Given the description of an element on the screen output the (x, y) to click on. 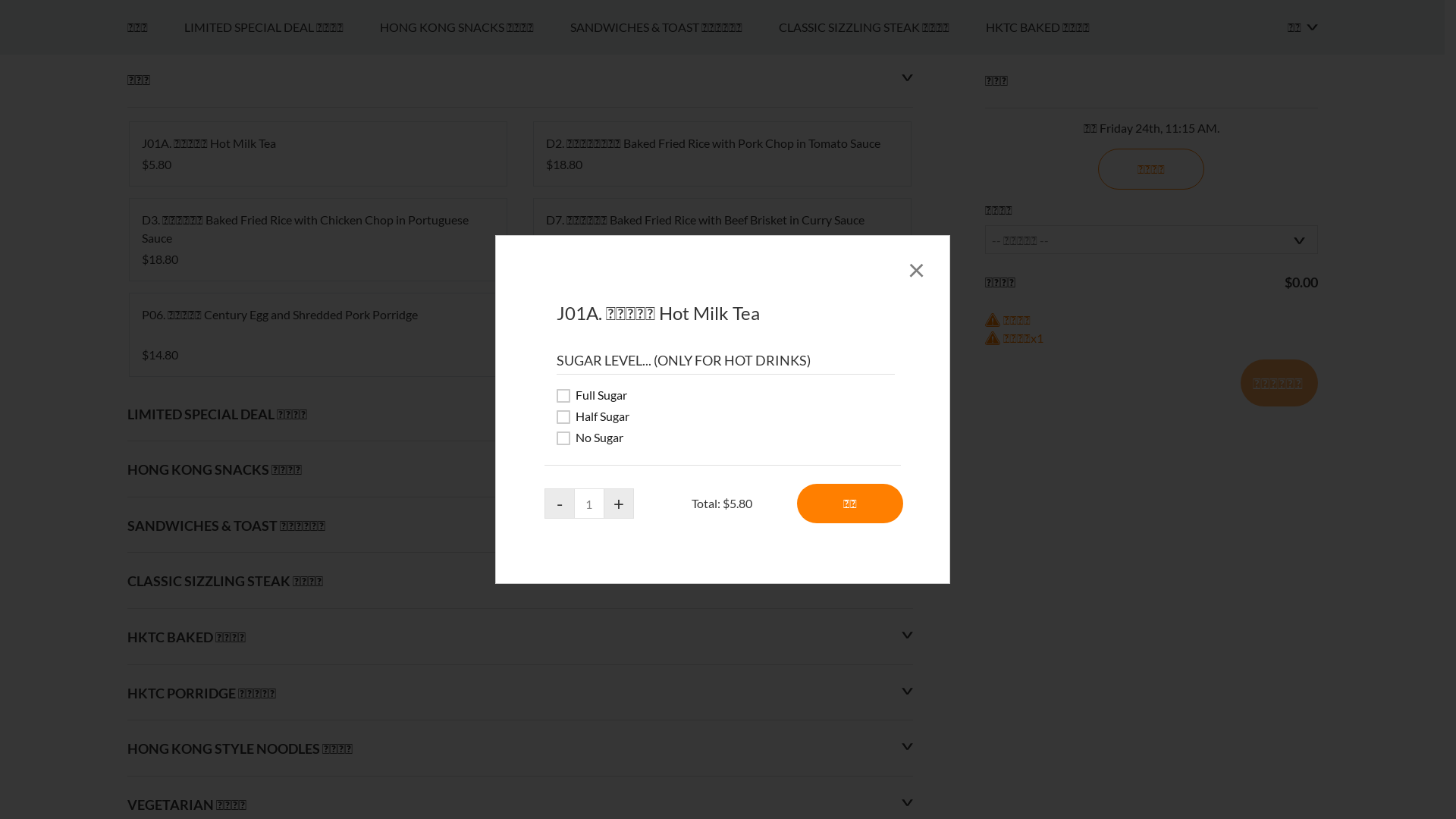
823521 Element type: text (4, 392)
